Given the description of an element on the screen output the (x, y) to click on. 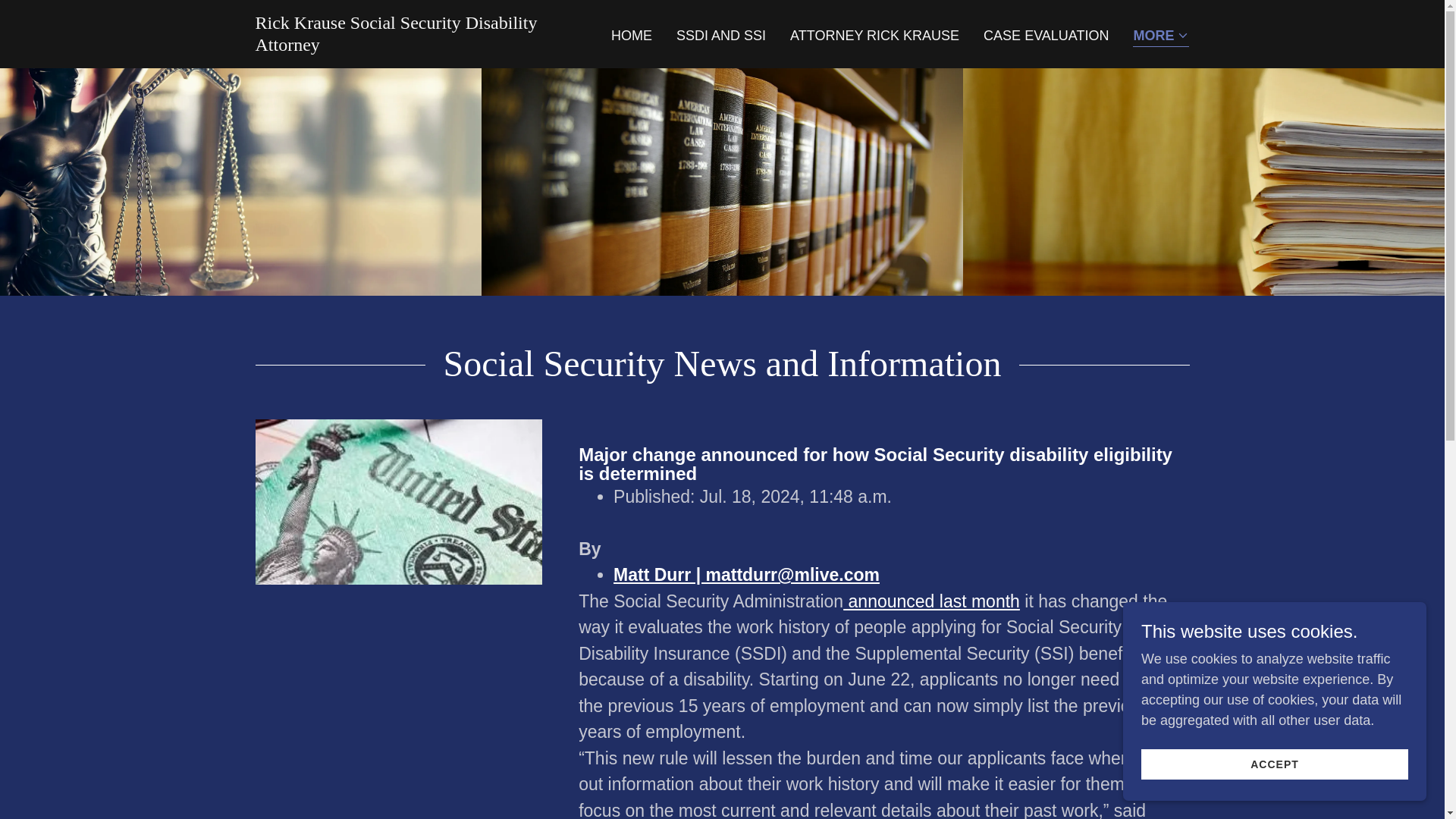
announced last month (931, 600)
CASE EVALUATION (1045, 35)
SSDI AND SSI (720, 35)
Rick Krause Social Security Disability Attorney (417, 46)
HOME (631, 35)
MORE (1160, 36)
ACCEPT (1274, 764)
ATTORNEY RICK KRAUSE (874, 35)
Rick Krause Social Security Disability Attorney (417, 46)
